Given the description of an element on the screen output the (x, y) to click on. 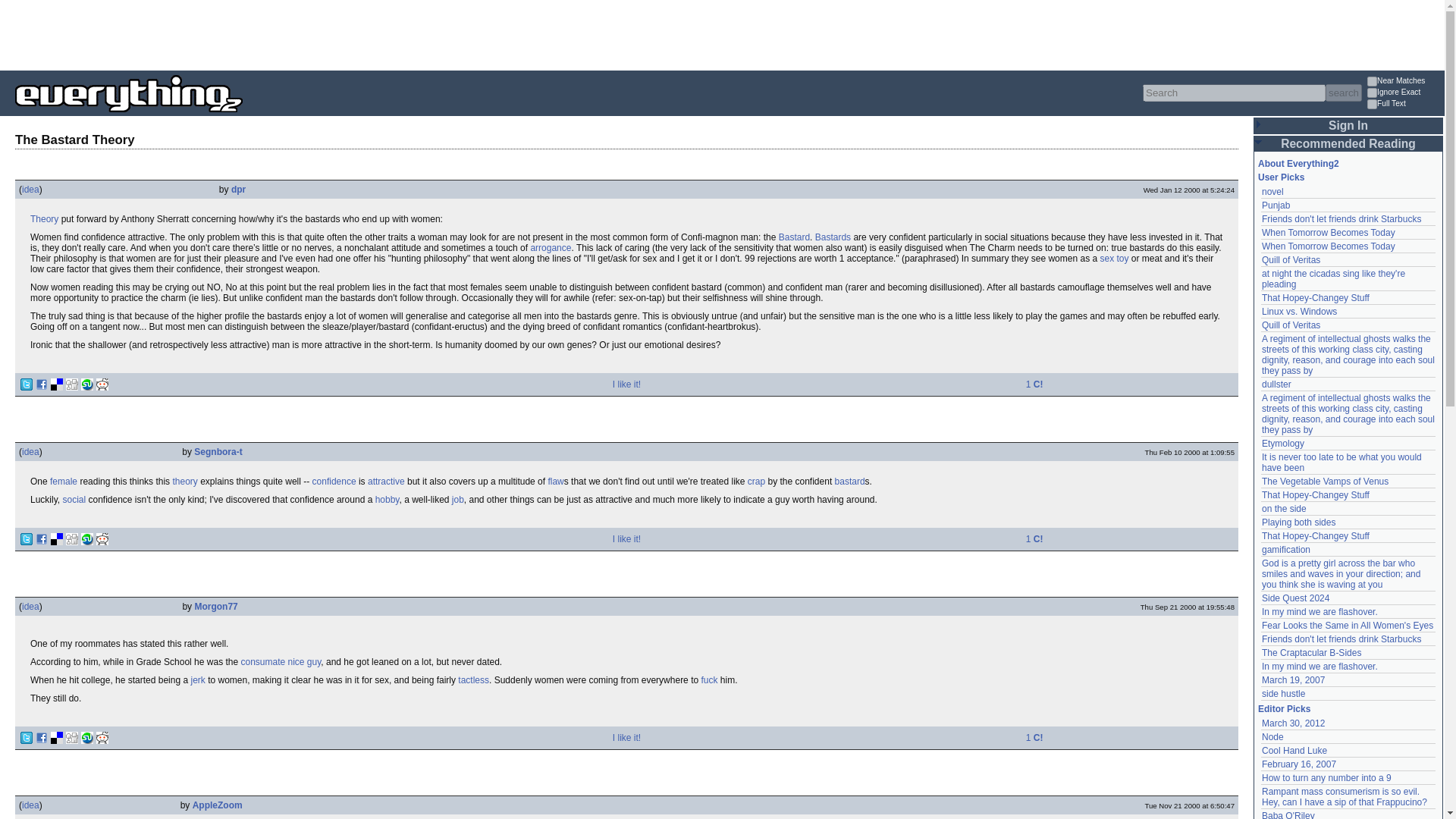
confidence (334, 480)
1 (1372, 103)
dpr (238, 189)
bastard (849, 480)
job (457, 499)
Reddit (101, 384)
crap (756, 480)
search (1342, 92)
1 (1372, 92)
idea (30, 189)
Search within Everything2 (1342, 92)
1 C! (1034, 538)
Search for text within writeups (1404, 104)
Facebook (41, 384)
